Given the description of an element on the screen output the (x, y) to click on. 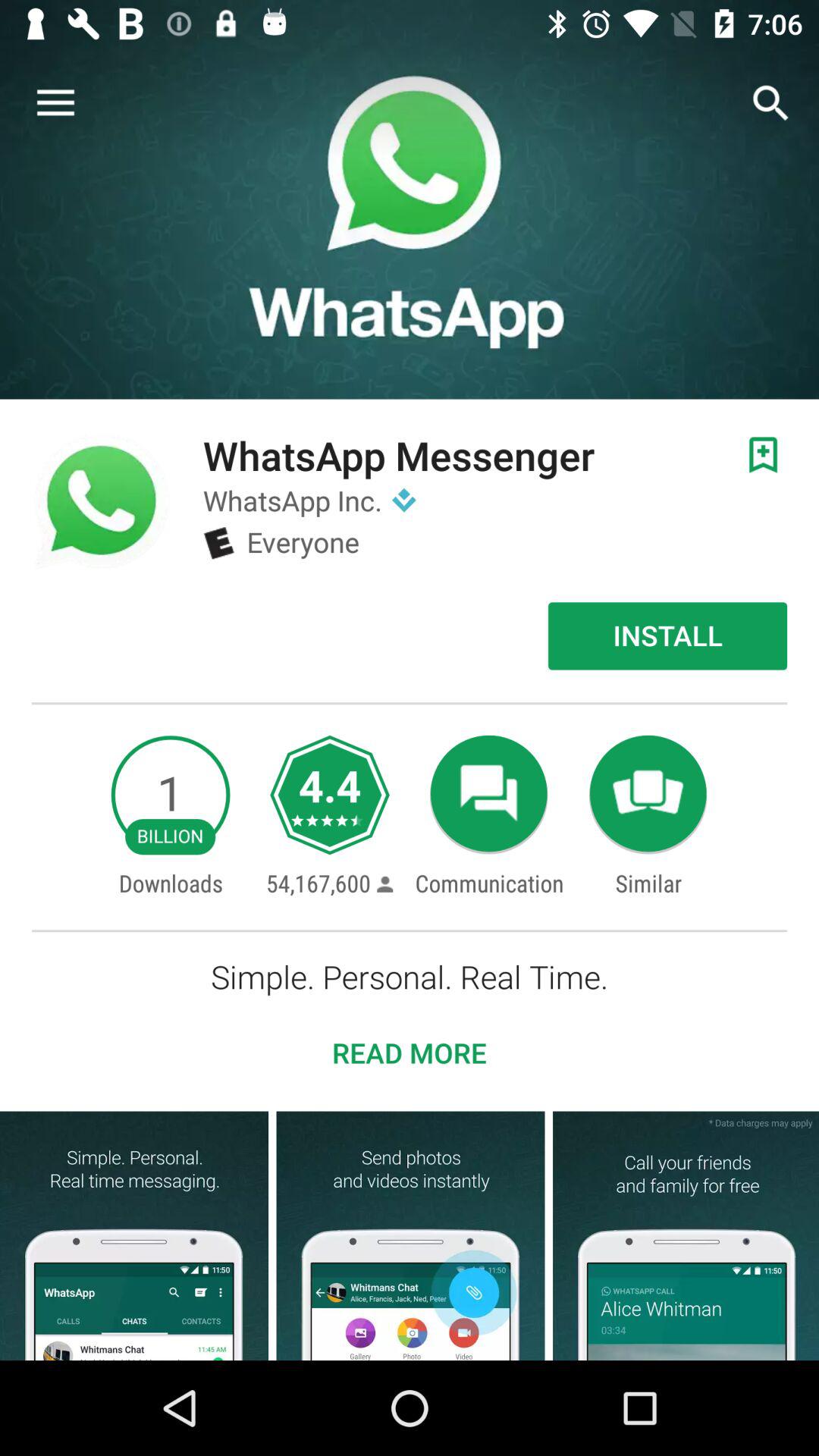
click on the symbol which is above the text similar (648, 794)
select the search icon on the top right corner of the screen (771, 103)
